Given the description of an element on the screen output the (x, y) to click on. 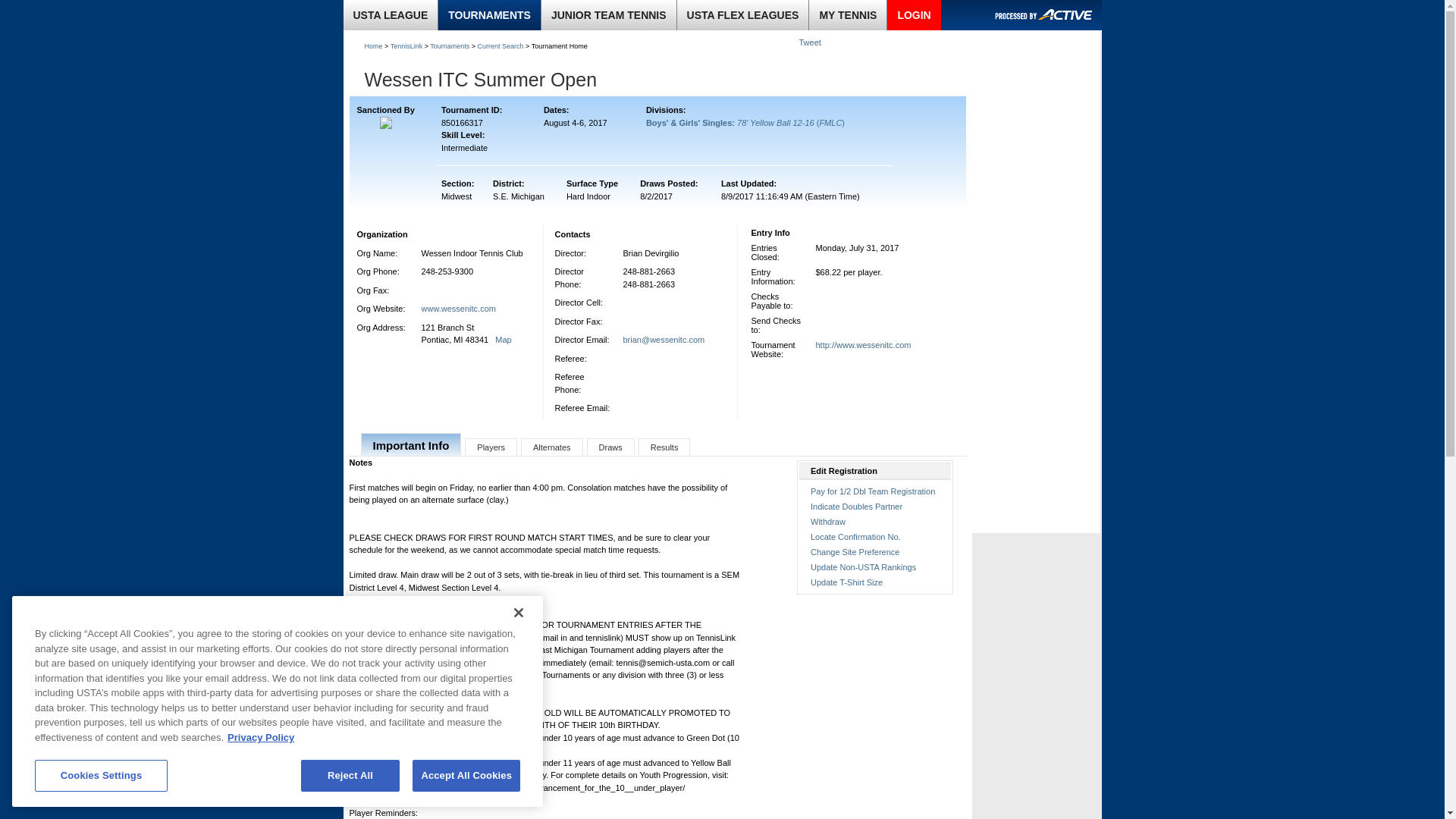
LOGIN (913, 15)
